Given the description of an element on the screen output the (x, y) to click on. 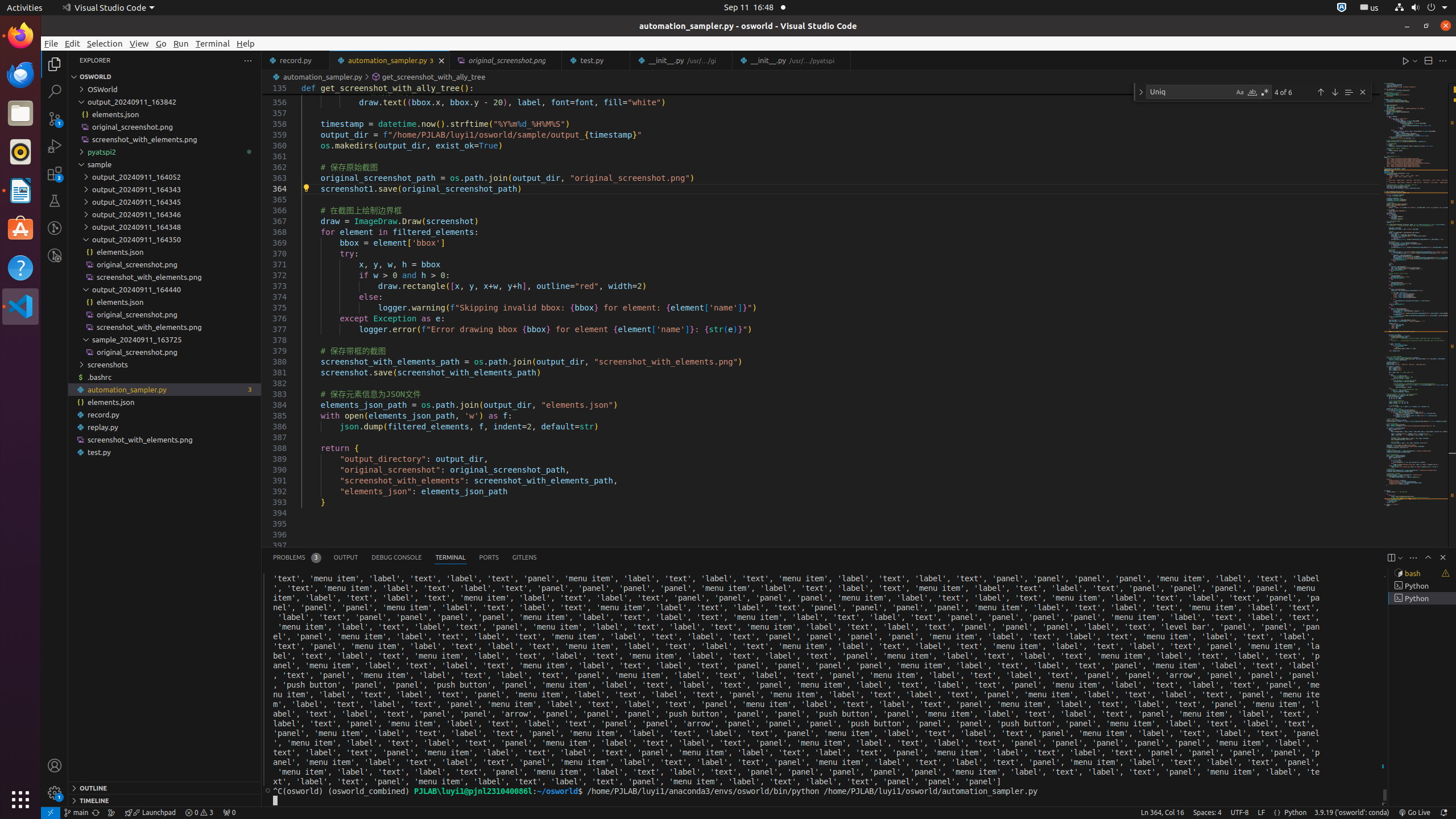
output_20240911_163842 Element type: tree-item (164, 101)
output_20240911_164052 Element type: tree-item (164, 176)
test.py Element type: page-tab (595, 60)
Go Element type: push-button (161, 43)
